Given the description of an element on the screen output the (x, y) to click on. 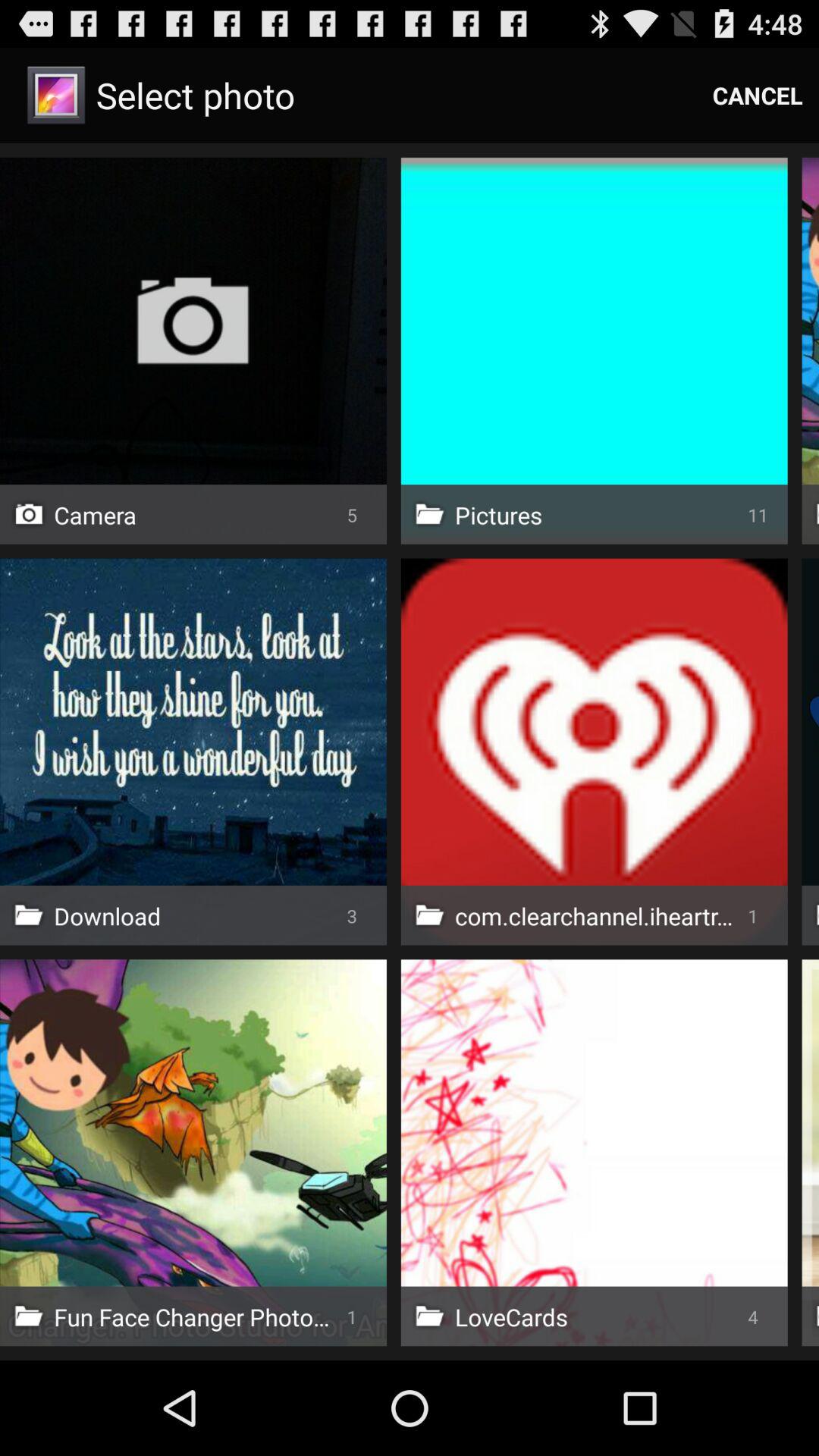
tap the item to the right of select photo icon (757, 95)
